Given the description of an element on the screen output the (x, y) to click on. 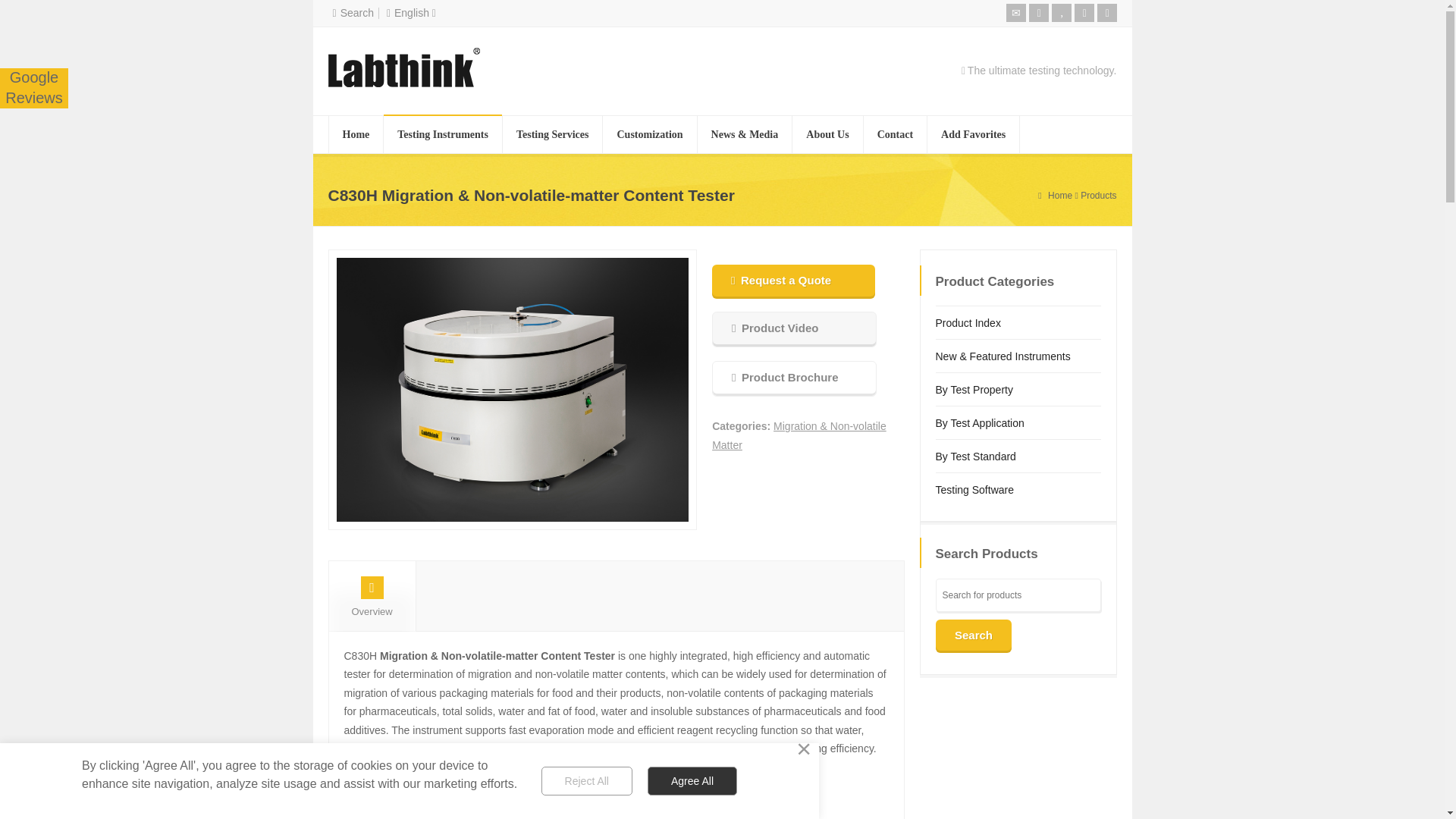
Home (356, 134)
Testing Instruments (443, 134)
Google Reviews (33, 87)
Labthink (33, 87)
